Given the description of an element on the screen output the (x, y) to click on. 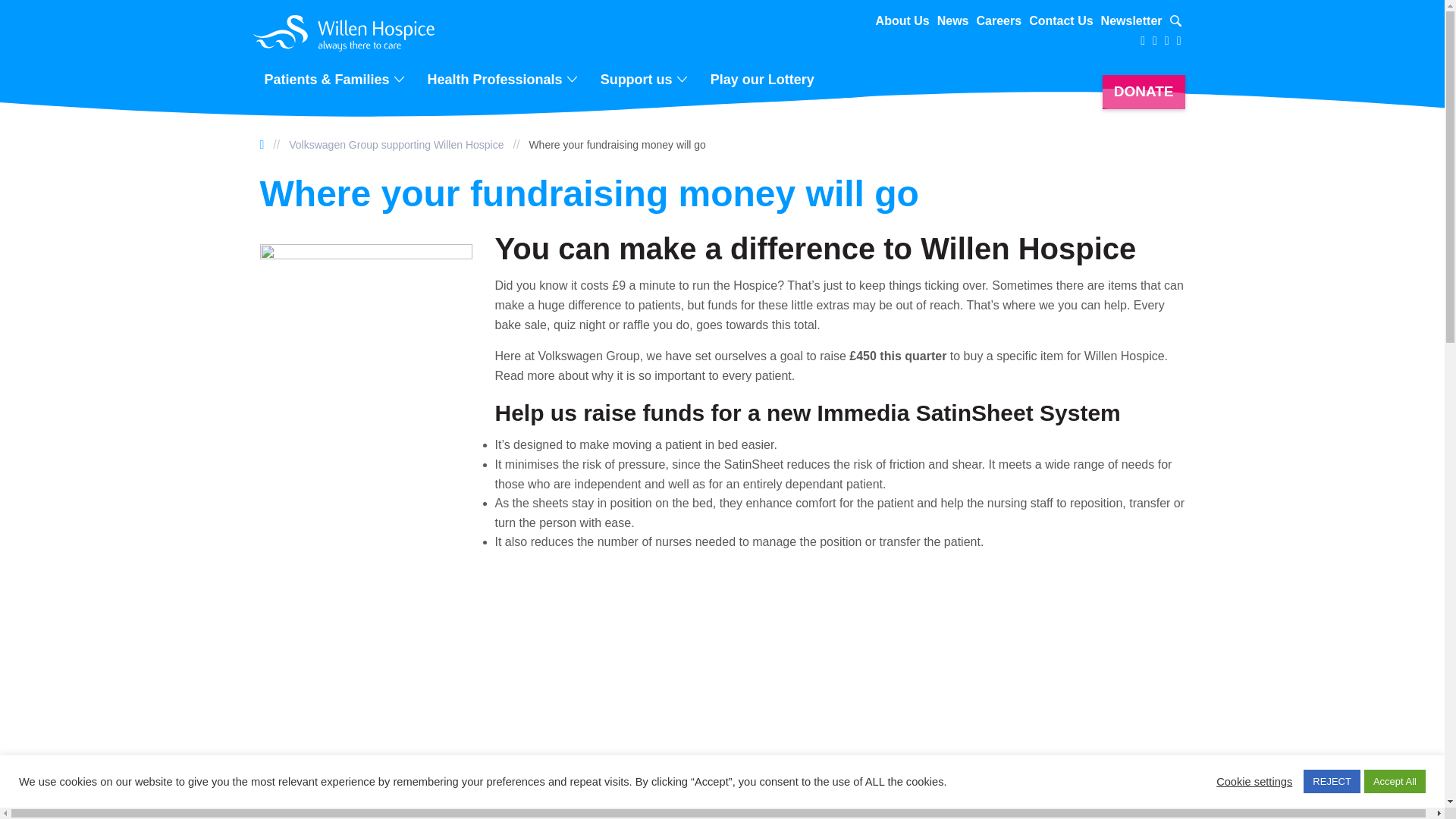
Support us (639, 79)
facebook (1155, 40)
Newsletter (1130, 21)
Careers (999, 21)
instagram (1166, 40)
News (953, 21)
About Us (903, 21)
Volkswagen Group supporting Willen Hospice (395, 144)
GO (1166, 22)
linkedin (1178, 40)
twitter (1142, 40)
Health Professionals (497, 79)
Play our Lottery (762, 79)
DONATE (1143, 91)
Contact Us (1061, 21)
